Given the description of an element on the screen output the (x, y) to click on. 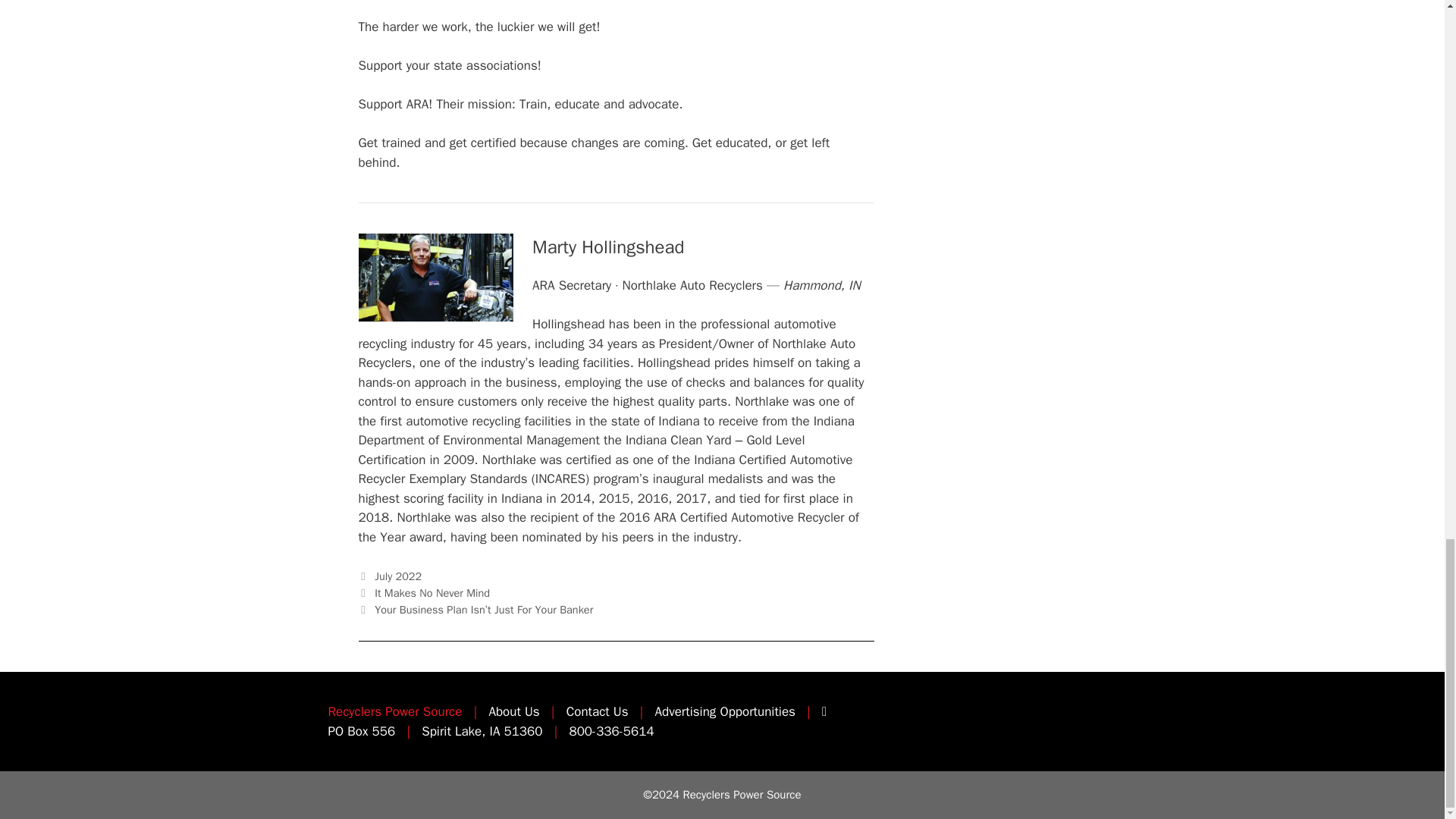
It Makes No Never Mind (431, 592)
About Us (512, 711)
Advertising Opportunities (724, 711)
Contact Us (597, 711)
July 2022 (398, 576)
